Given the description of an element on the screen output the (x, y) to click on. 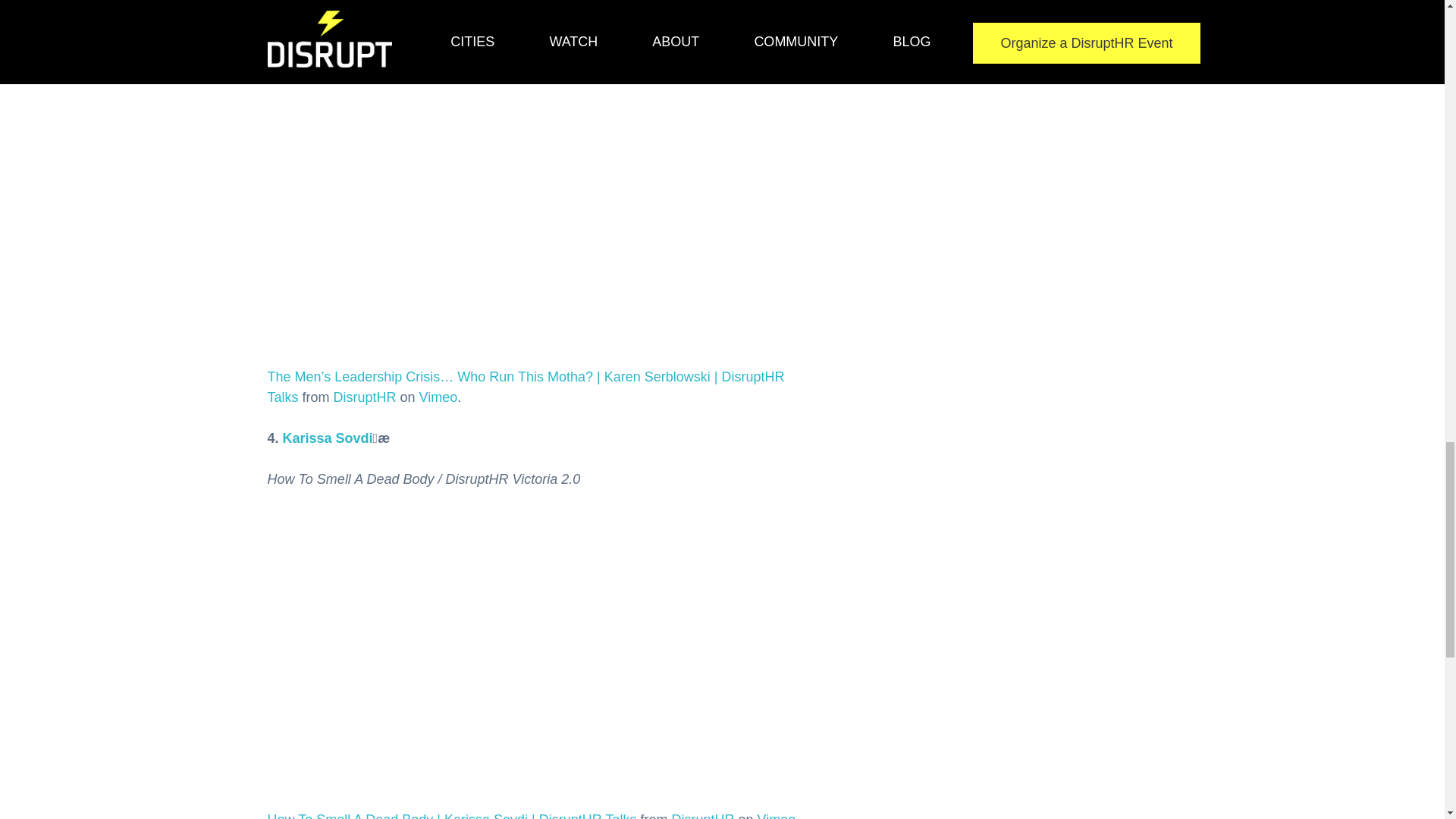
DisruptHR (702, 815)
Karissa Sovdi (327, 437)
Vimeo (438, 396)
DisruptHR (364, 396)
Karen Serblowski (339, 1)
Vimeo (775, 815)
